Given the description of an element on the screen output the (x, y) to click on. 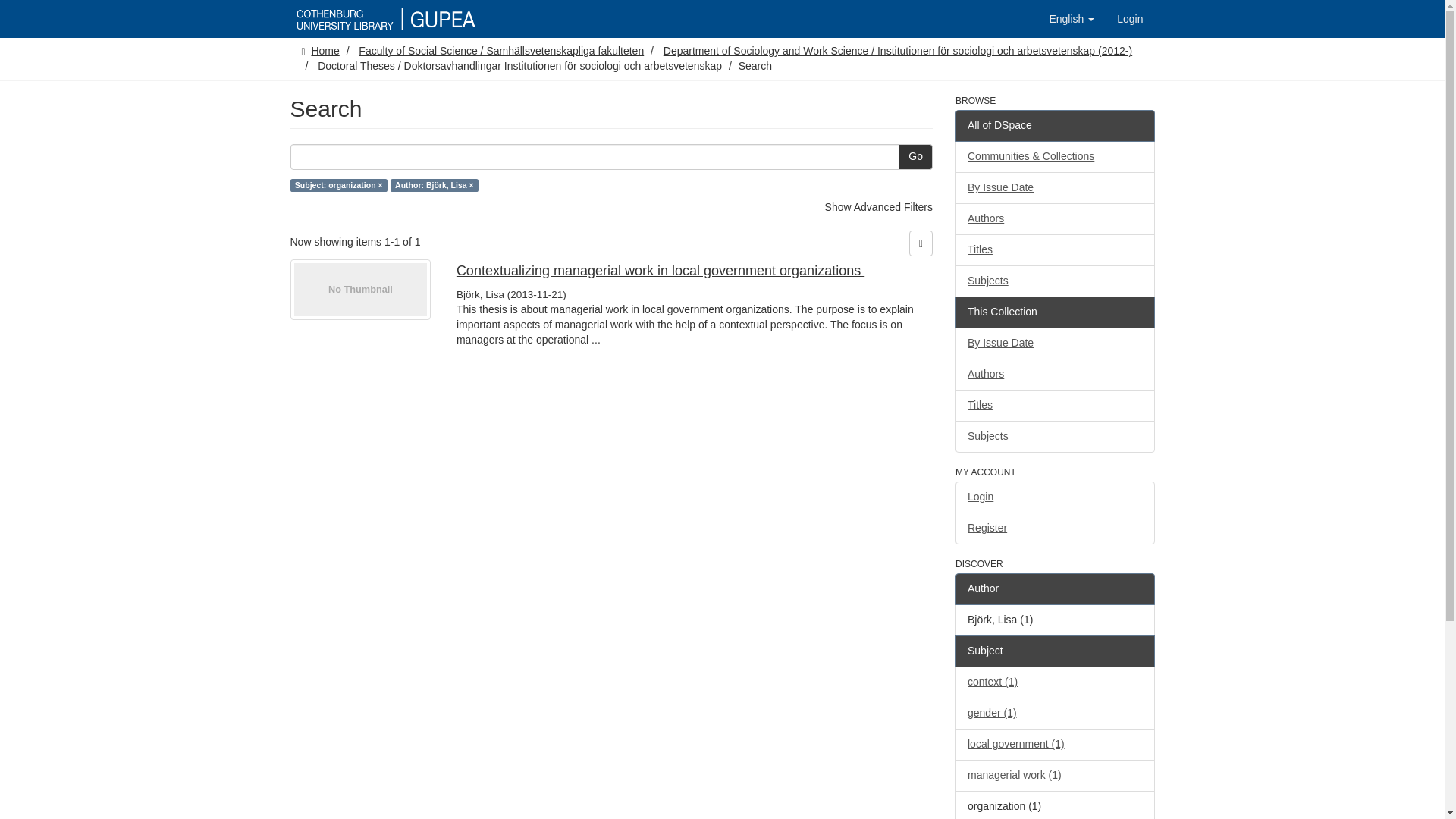
Go (915, 156)
Login (1129, 18)
English  (1070, 18)
Show Advanced Filters (879, 206)
Home (325, 50)
